Given the description of an element on the screen output the (x, y) to click on. 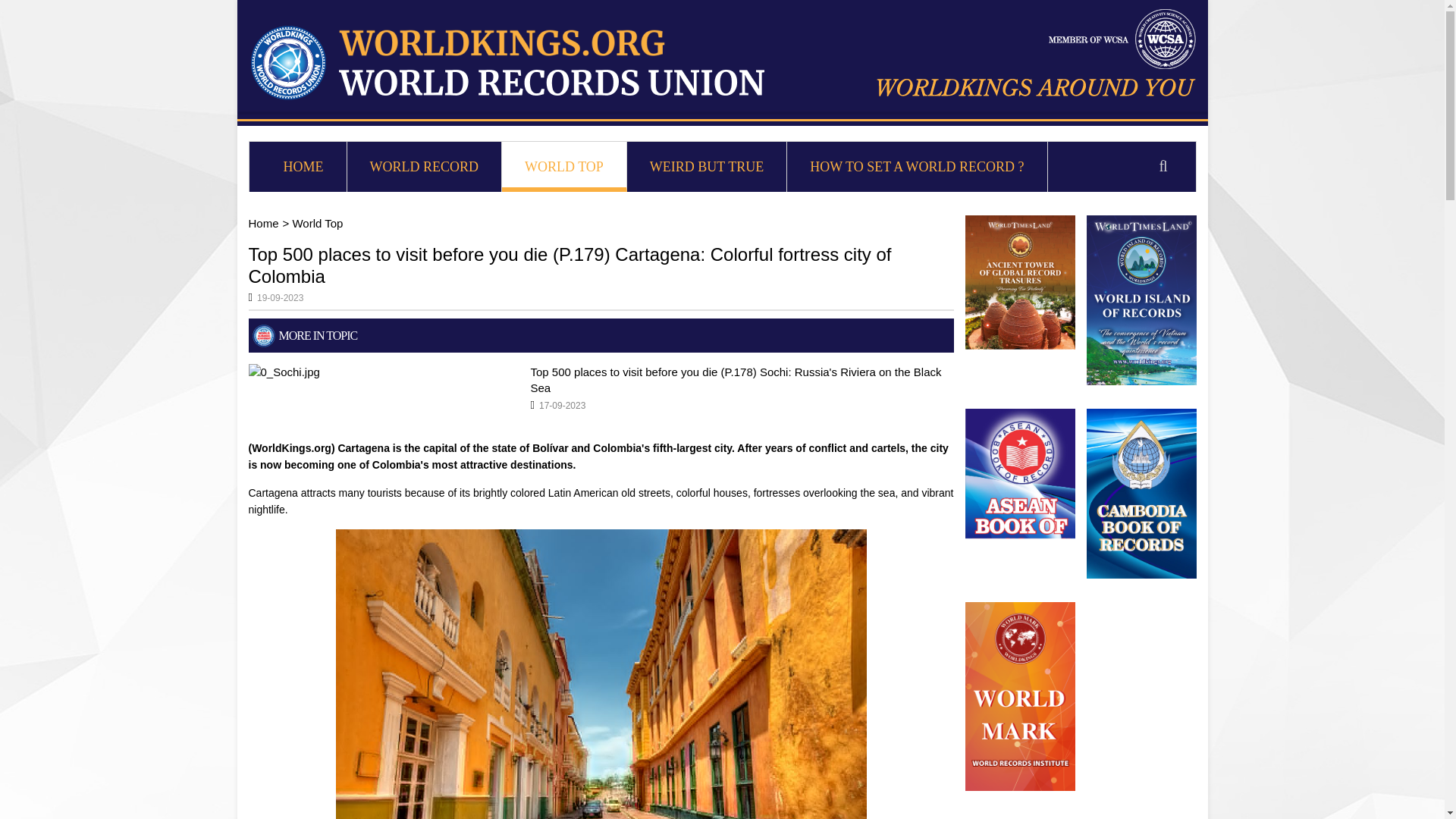
HOME (303, 166)
HOW TO SET A WORLD RECORD ? (916, 166)
WORLD TOP (564, 166)
Home (303, 166)
WORLD RECORD (424, 166)
Home (263, 223)
WEIRD BUT TRUE (706, 166)
How to set a world record ? (916, 166)
World Top (317, 223)
